Given the description of an element on the screen output the (x, y) to click on. 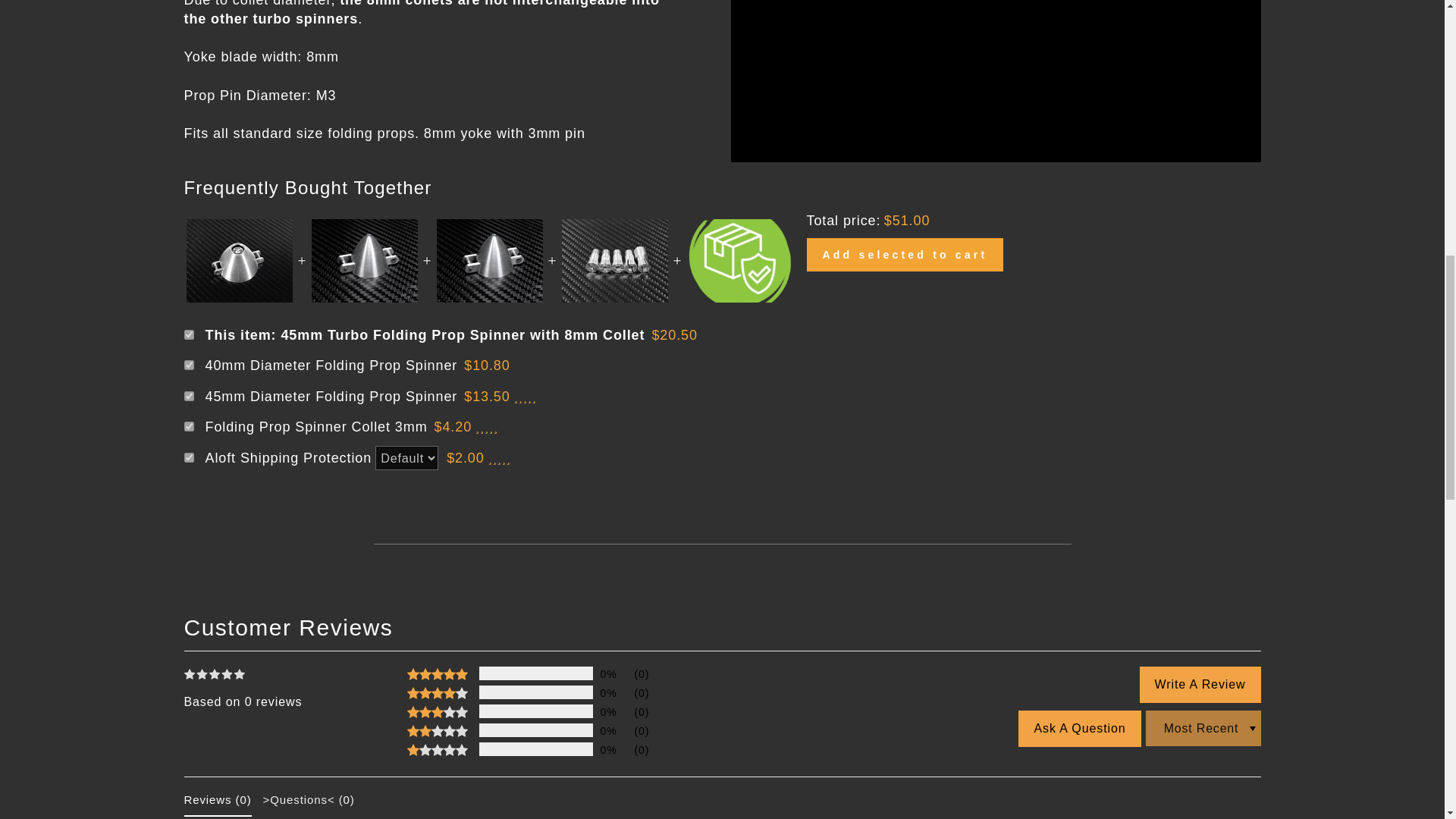
on (188, 457)
on (188, 365)
on (188, 396)
on (188, 426)
on (188, 334)
